Given the description of an element on the screen output the (x, y) to click on. 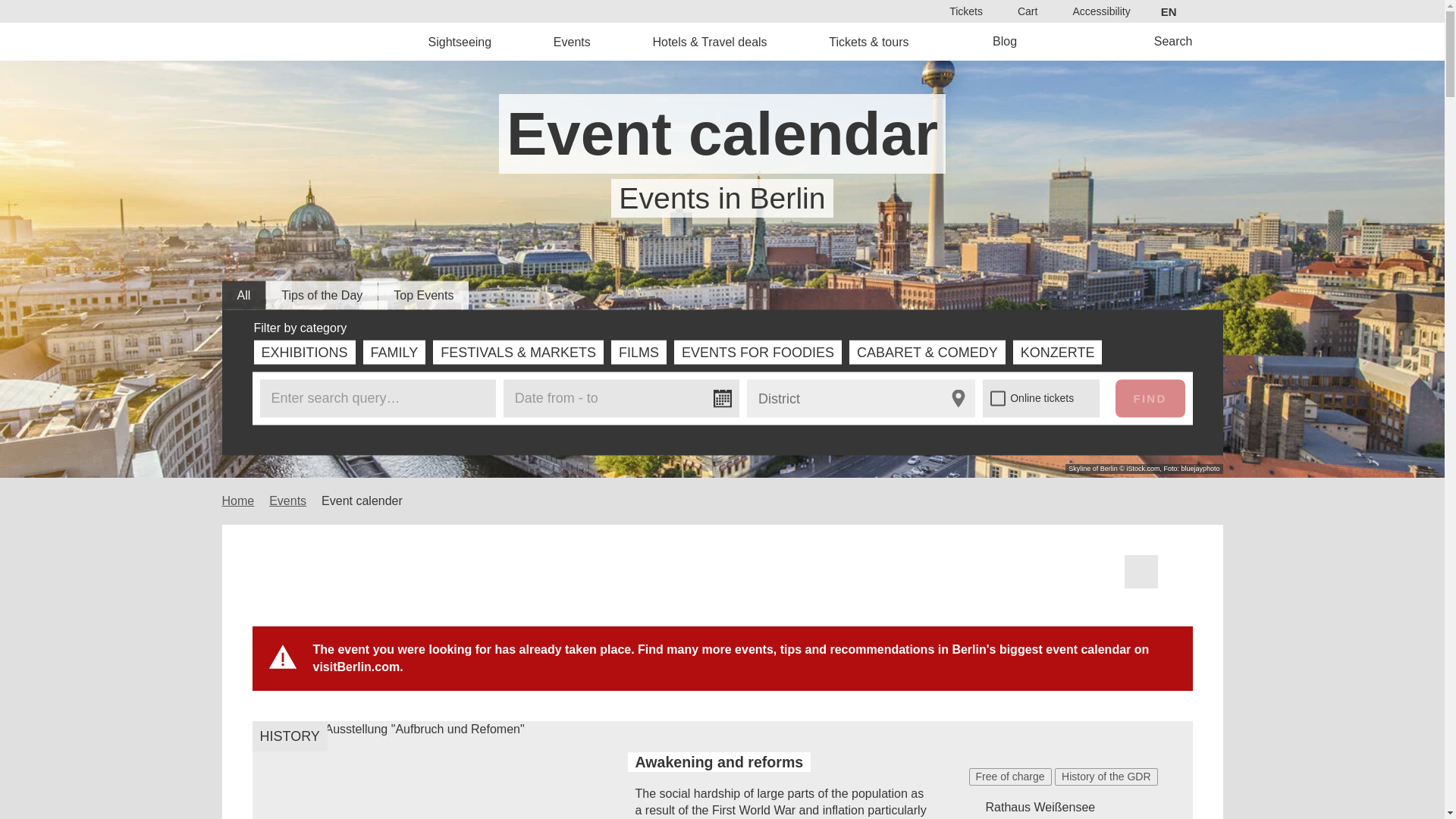
Events (571, 41)
Home (327, 41)
Sightseeing (460, 41)
Find (1150, 397)
Find (768, 432)
